Given the description of an element on the screen output the (x, y) to click on. 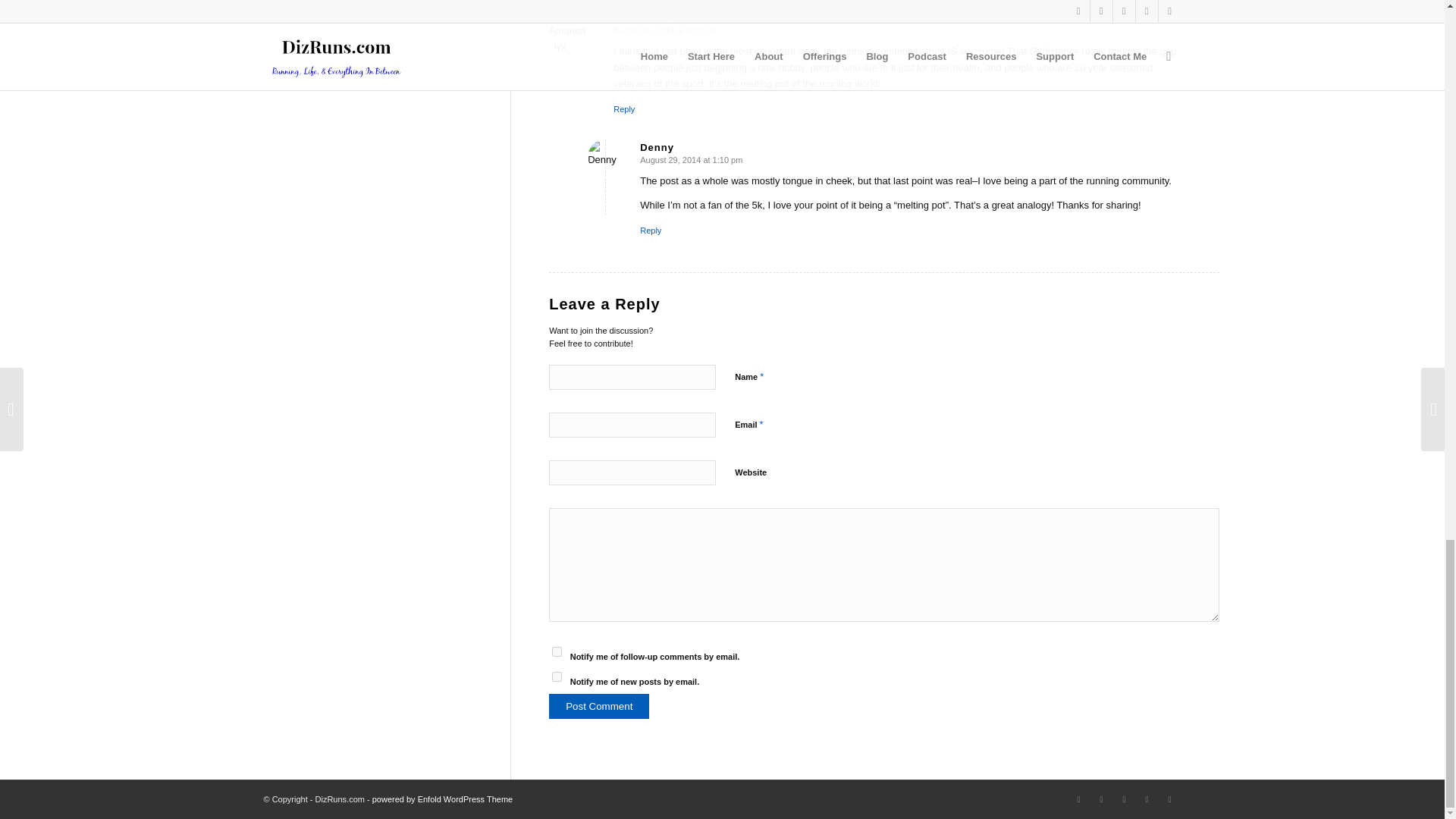
Post Comment (598, 706)
subscribe (556, 676)
subscribe (556, 651)
